Given the description of an element on the screen output the (x, y) to click on. 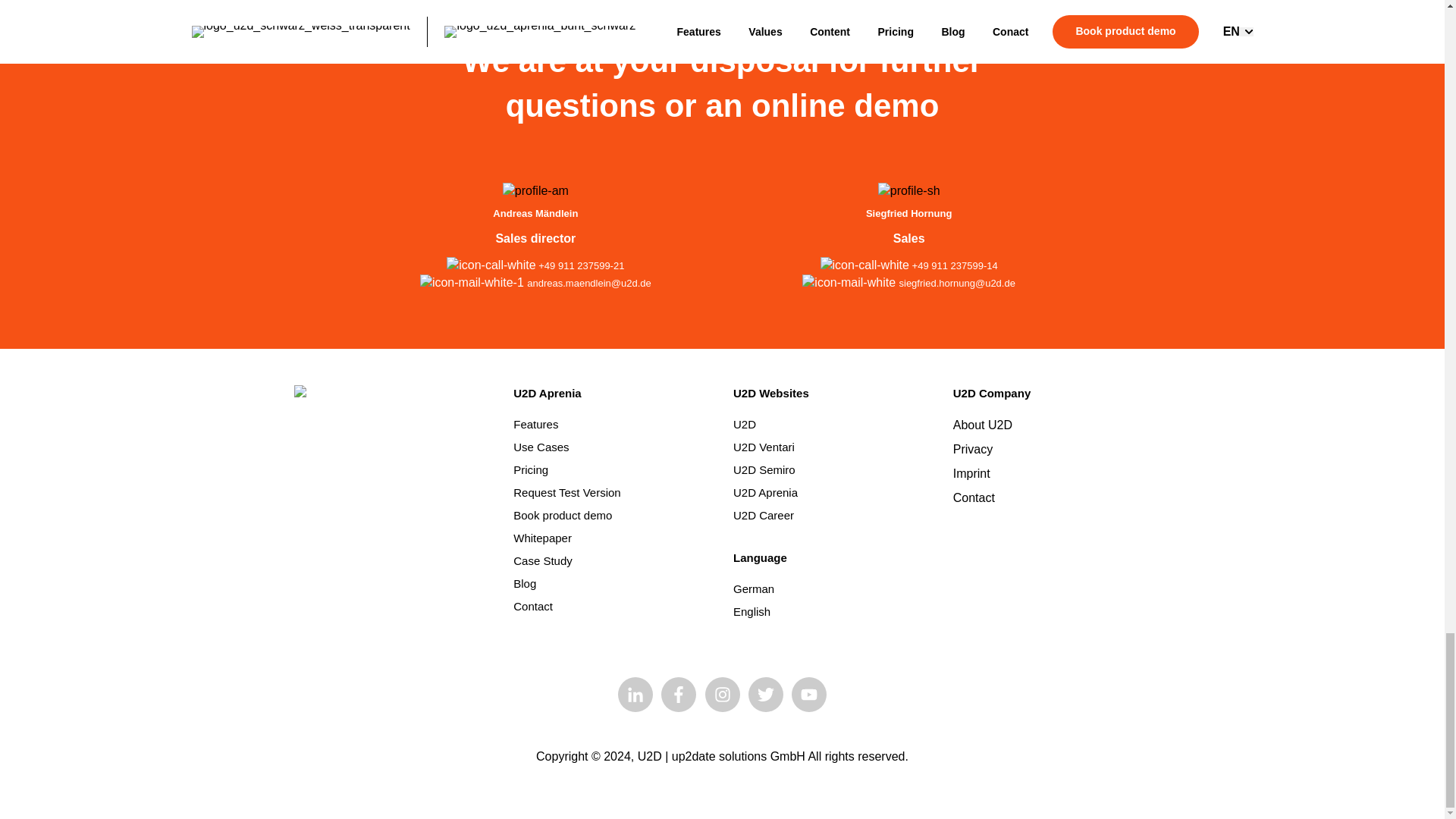
profile-sh (908, 190)
Pricing (530, 469)
Blog (524, 583)
Features (535, 423)
U2D Aprenia (546, 392)
Use Cases (541, 446)
Whitepaper (542, 537)
Request Test Version (566, 492)
Book product demo (562, 514)
profile-am (535, 190)
